Given the description of an element on the screen output the (x, y) to click on. 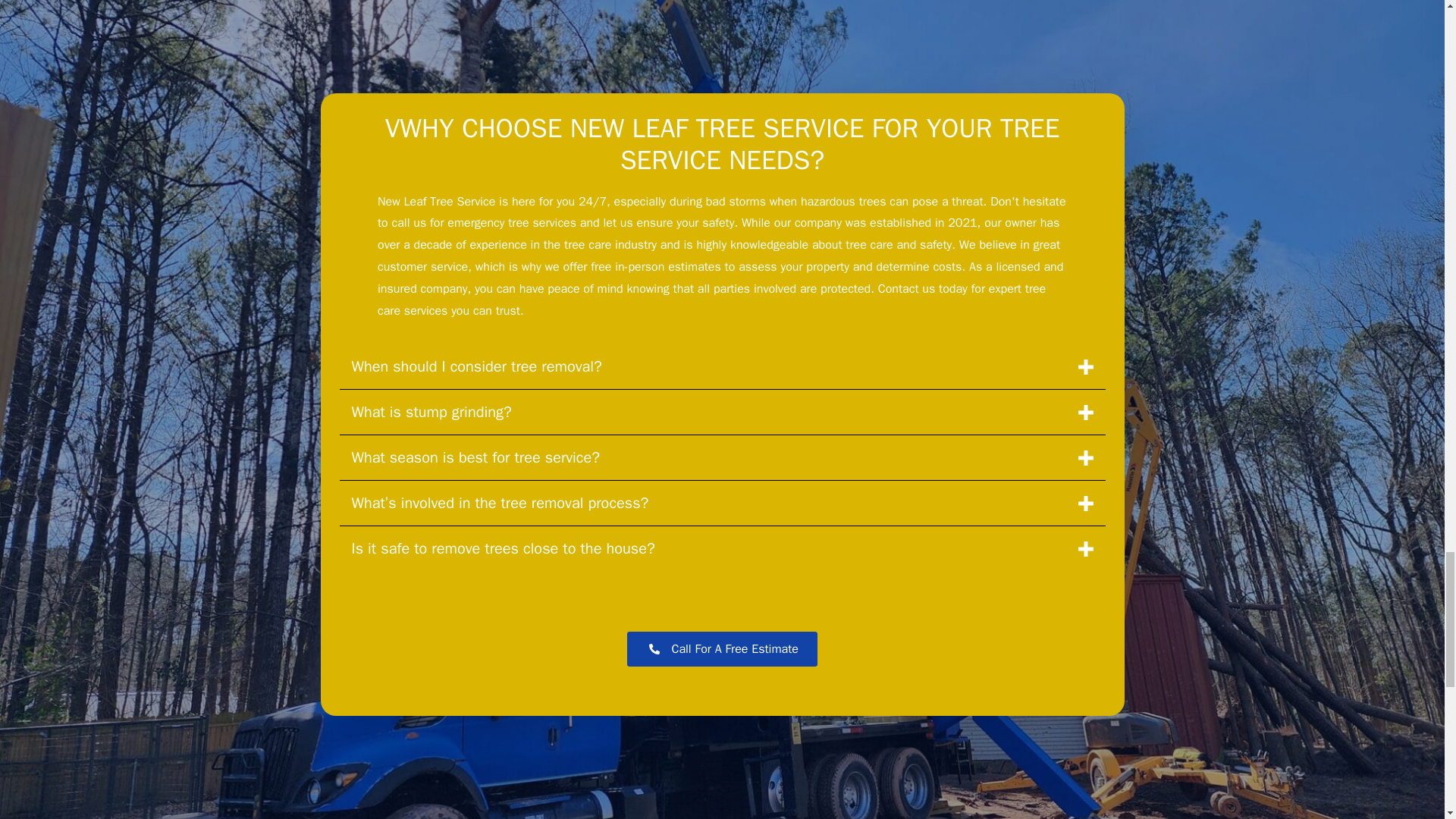
When should I consider tree removal? (722, 366)
